Given the description of an element on the screen output the (x, y) to click on. 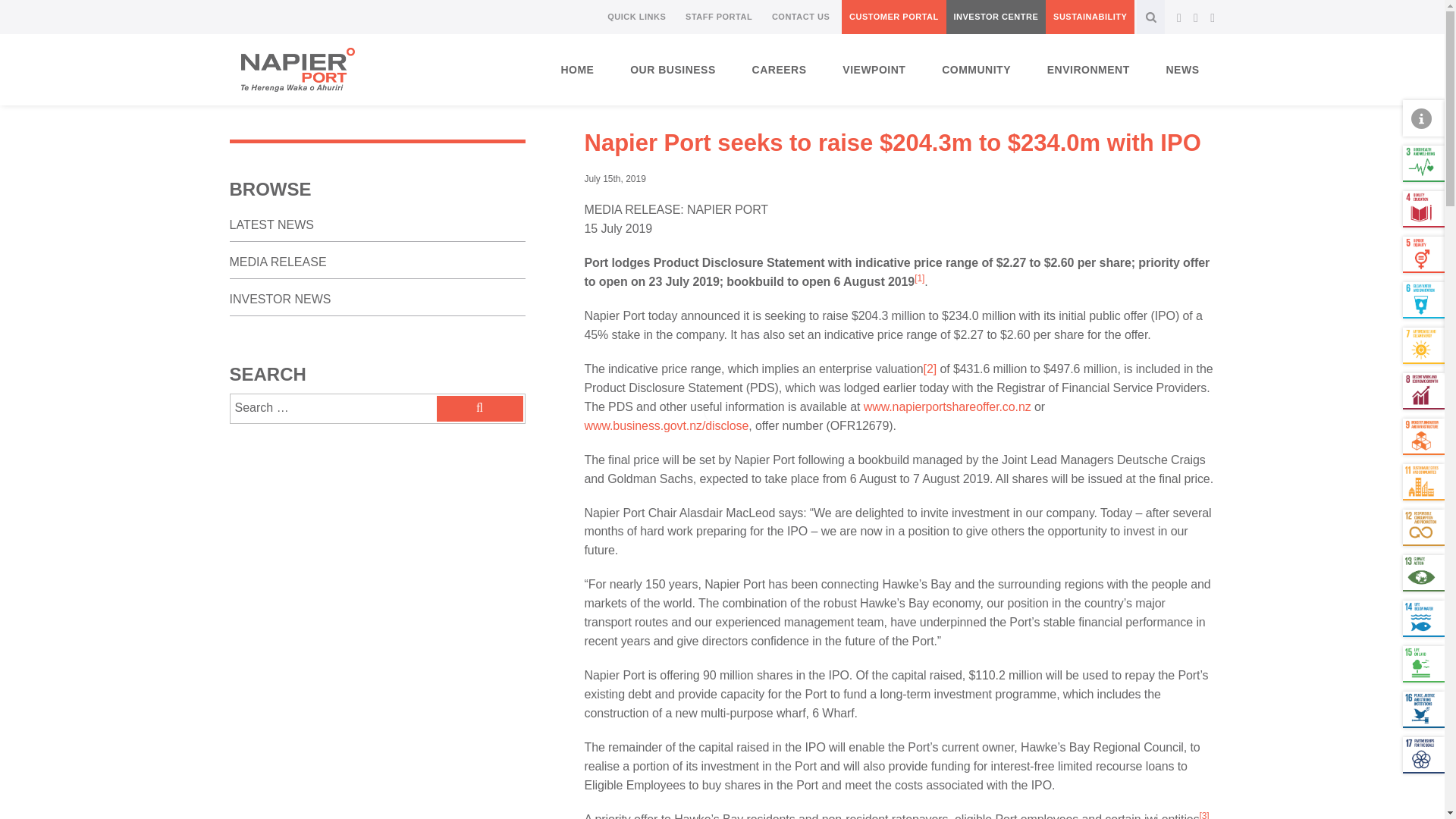
Home (577, 69)
STAFF PORTAL (719, 16)
QUICK LINKS (635, 16)
CUSTOMER PORTAL (893, 16)
CONTACT US (800, 16)
